Given the description of an element on the screen output the (x, y) to click on. 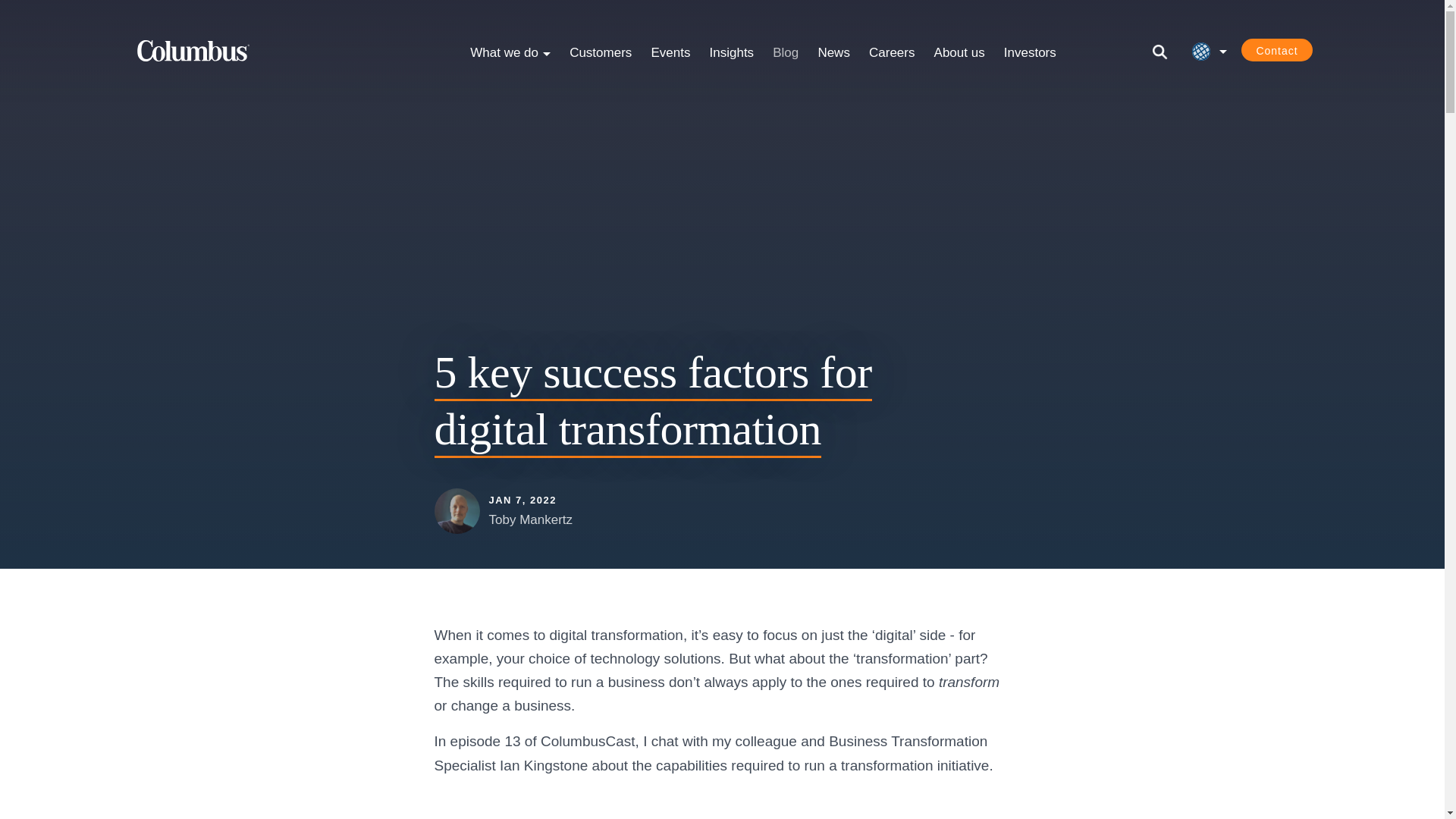
News (833, 52)
Careers (892, 52)
Events (670, 52)
Investors (1029, 52)
Insights (731, 52)
What we do (510, 52)
Blog (785, 52)
Customers (601, 52)
About us (958, 52)
